Given the description of an element on the screen output the (x, y) to click on. 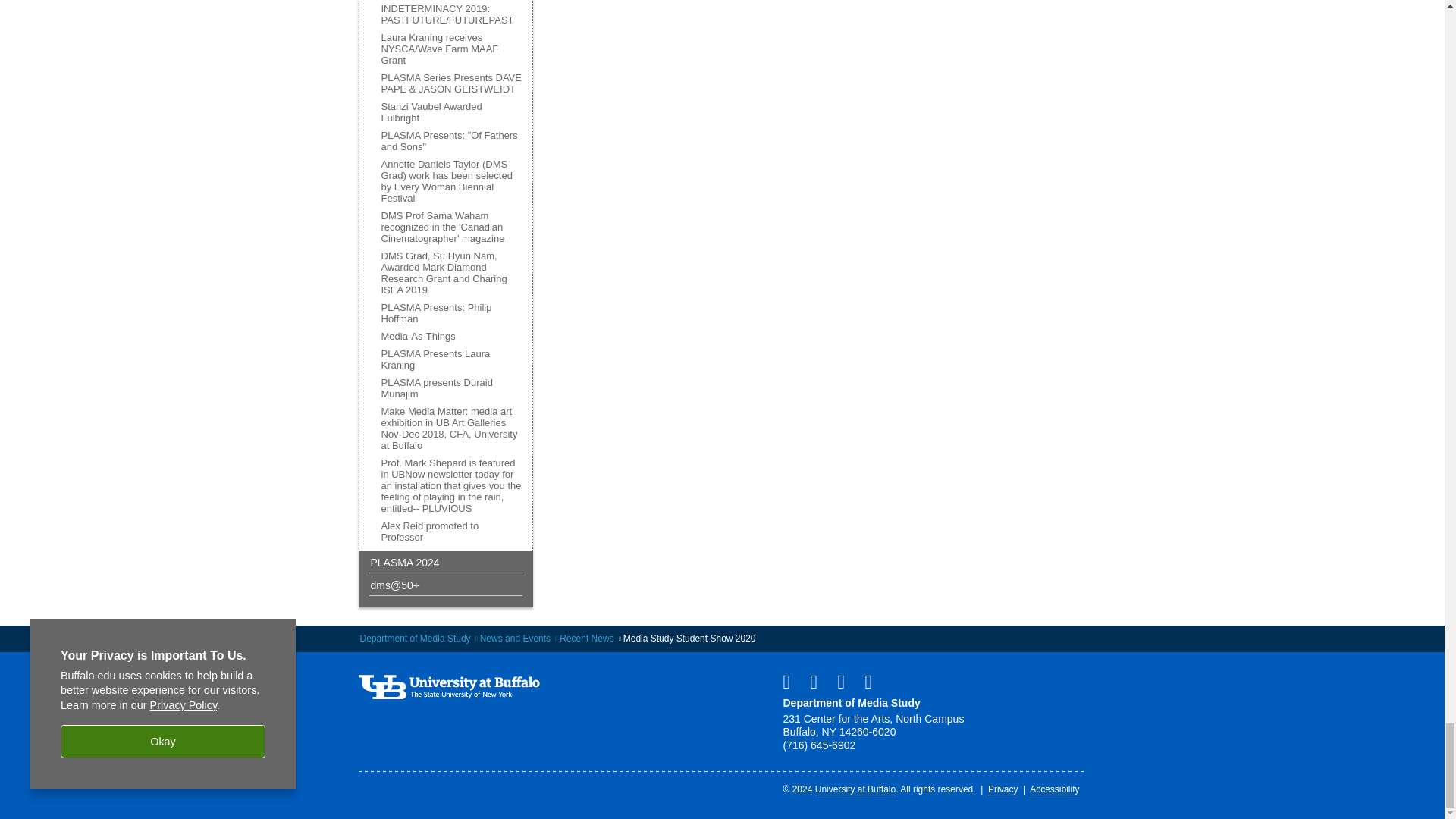
Media Study Facebook (792, 681)
Instagram (847, 681)
Media Study YouTube Channel (819, 681)
X (873, 681)
